Given the description of an element on the screen output the (x, y) to click on. 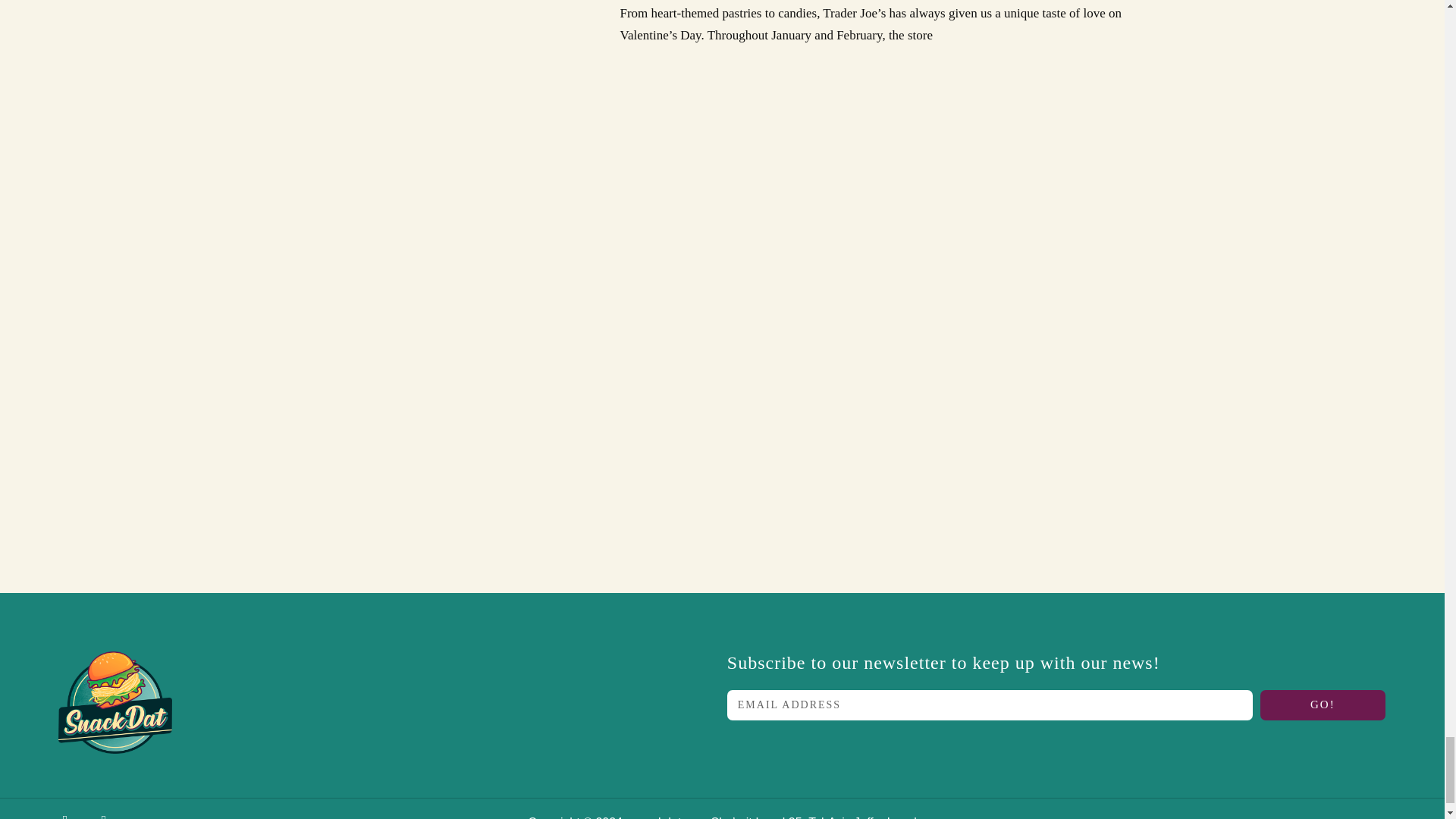
About Us (986, 816)
Terms of Use (1066, 816)
Privacy policy (1157, 816)
GO! (1323, 705)
